Given the description of an element on the screen output the (x, y) to click on. 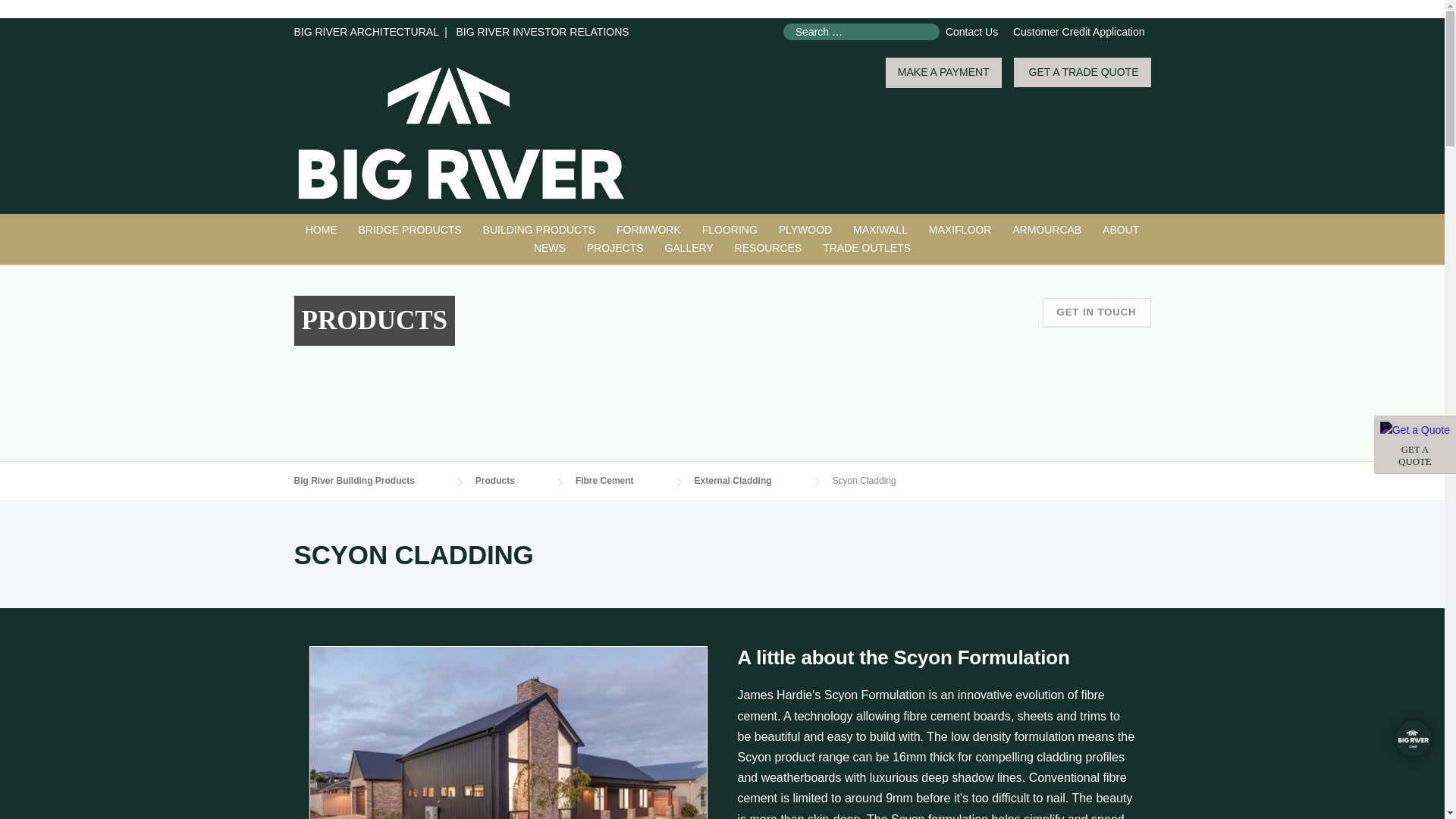
BIG RIVER ARCHITECTURAL (366, 31)
Search (40, 13)
Big River Building Products (461, 132)
Go to Products. (510, 480)
Get a Trade Quote (1415, 444)
Go to Big River Building Products. (369, 480)
Get in Touch (1096, 312)
GET A TRADE QUOTE (1082, 72)
Projects (615, 248)
MAKE A PAYMENT (943, 72)
BIG RIVER INVESTOR RELATIONS (541, 31)
Products (539, 230)
About Us (1120, 230)
Go to the Fibre Cement Category archives. (619, 480)
  Contact Us   (971, 31)
